Given the description of an element on the screen output the (x, y) to click on. 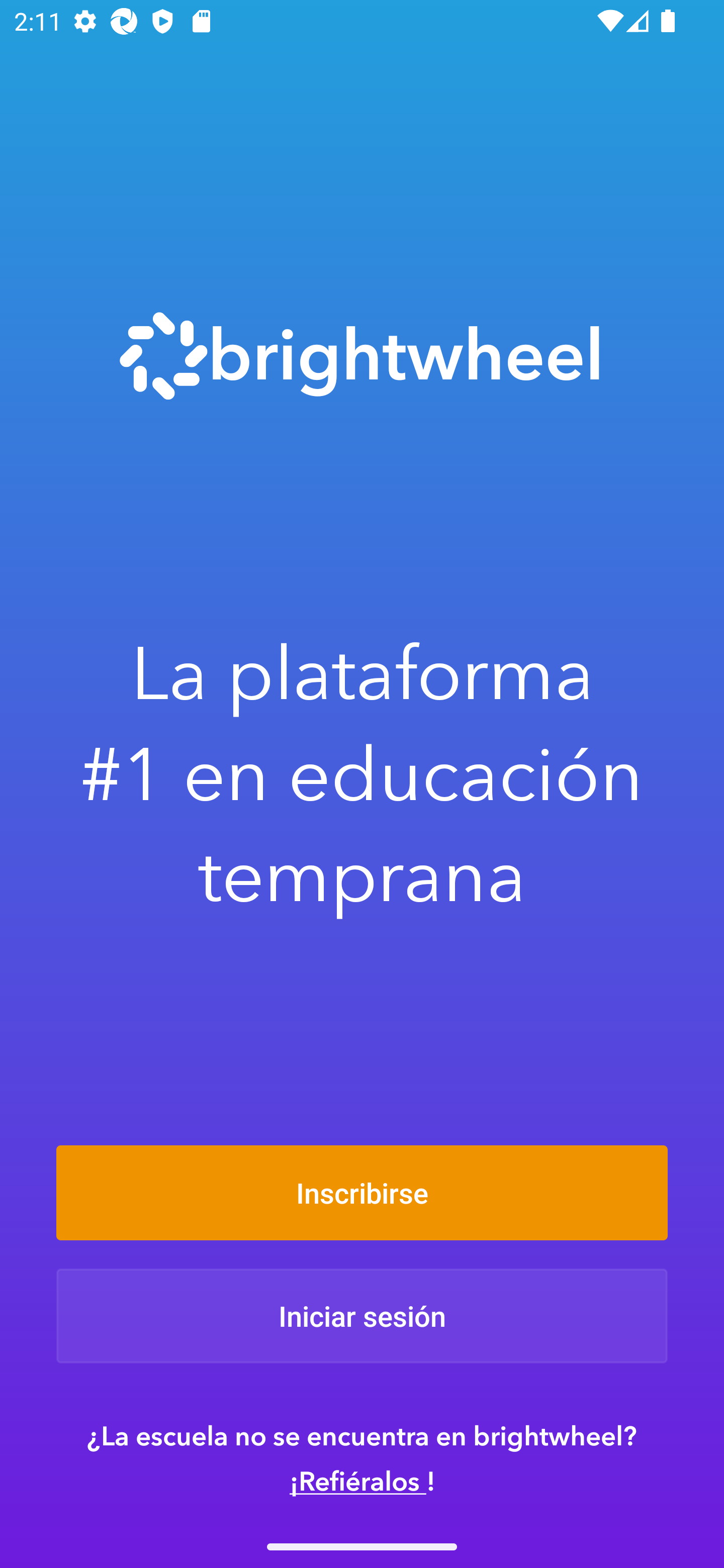
Inscribirse (361, 1192)
Iniciar sesión (361, 1316)
